Given the description of an element on the screen output the (x, y) to click on. 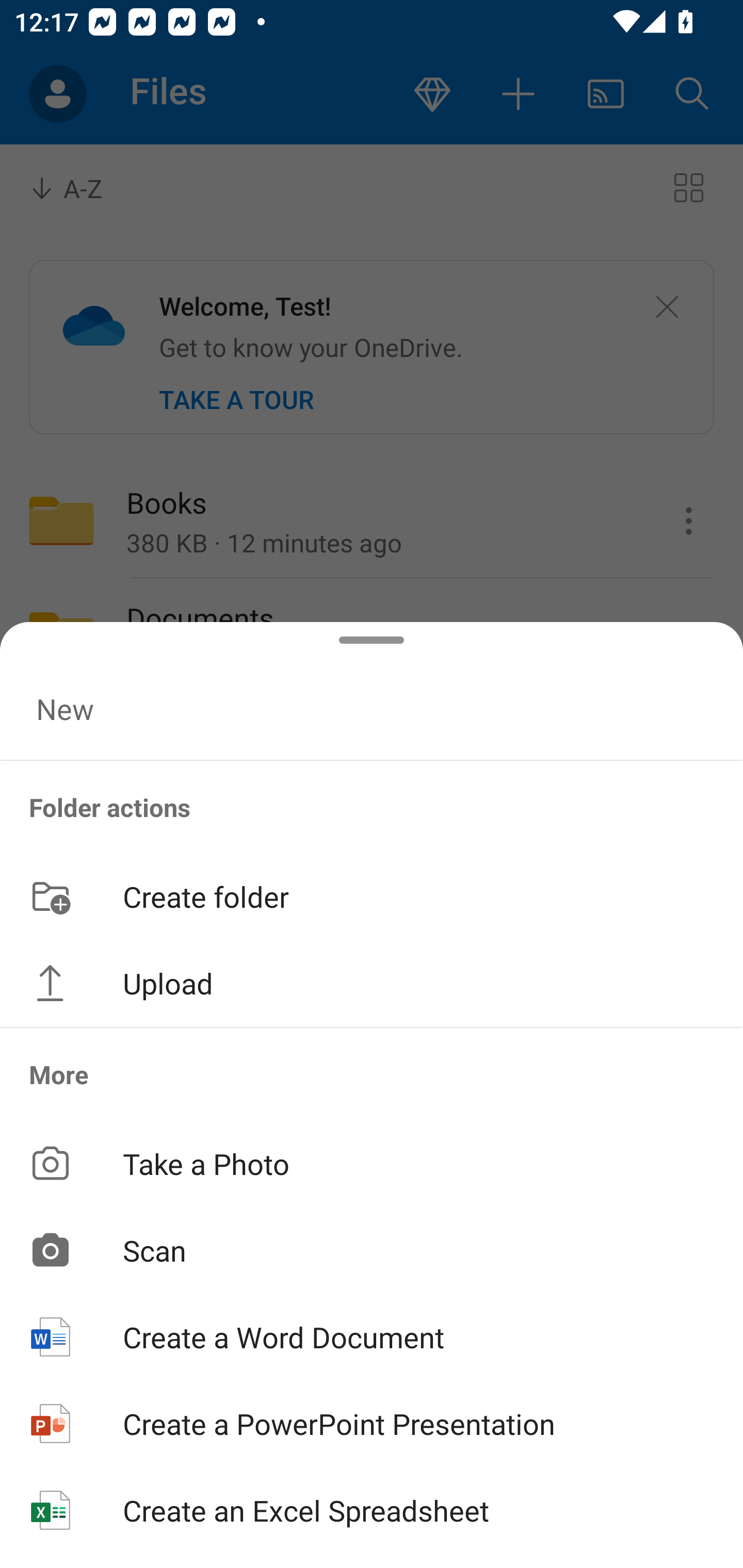
Create folder button Create folder (371, 895)
Upload button Upload (371, 983)
Take a Photo button Take a Photo (371, 1163)
Scan button Scan (371, 1250)
